Given the description of an element on the screen output the (x, y) to click on. 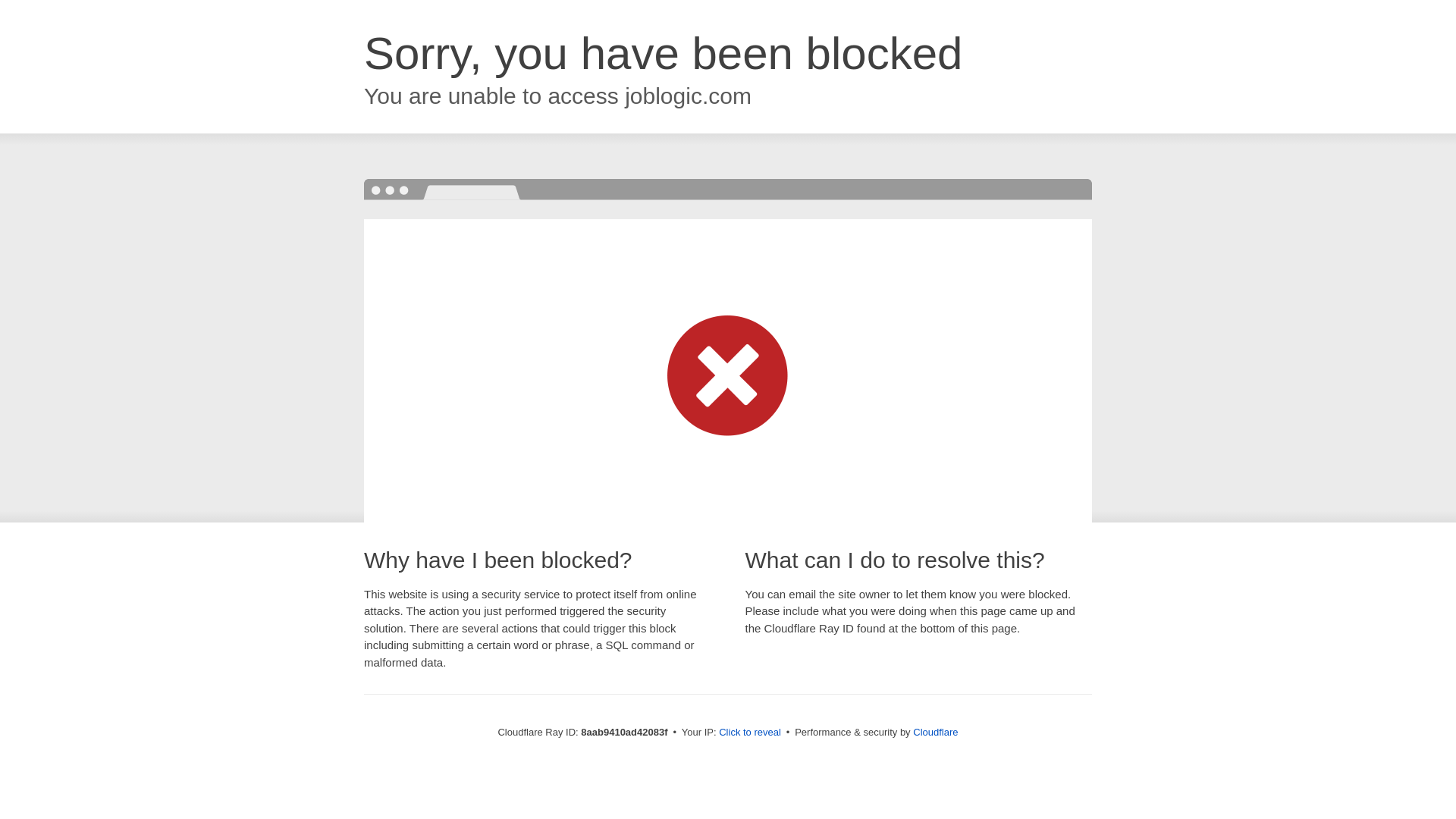
Click to reveal (749, 732)
Cloudflare (935, 731)
